Given the description of an element on the screen output the (x, y) to click on. 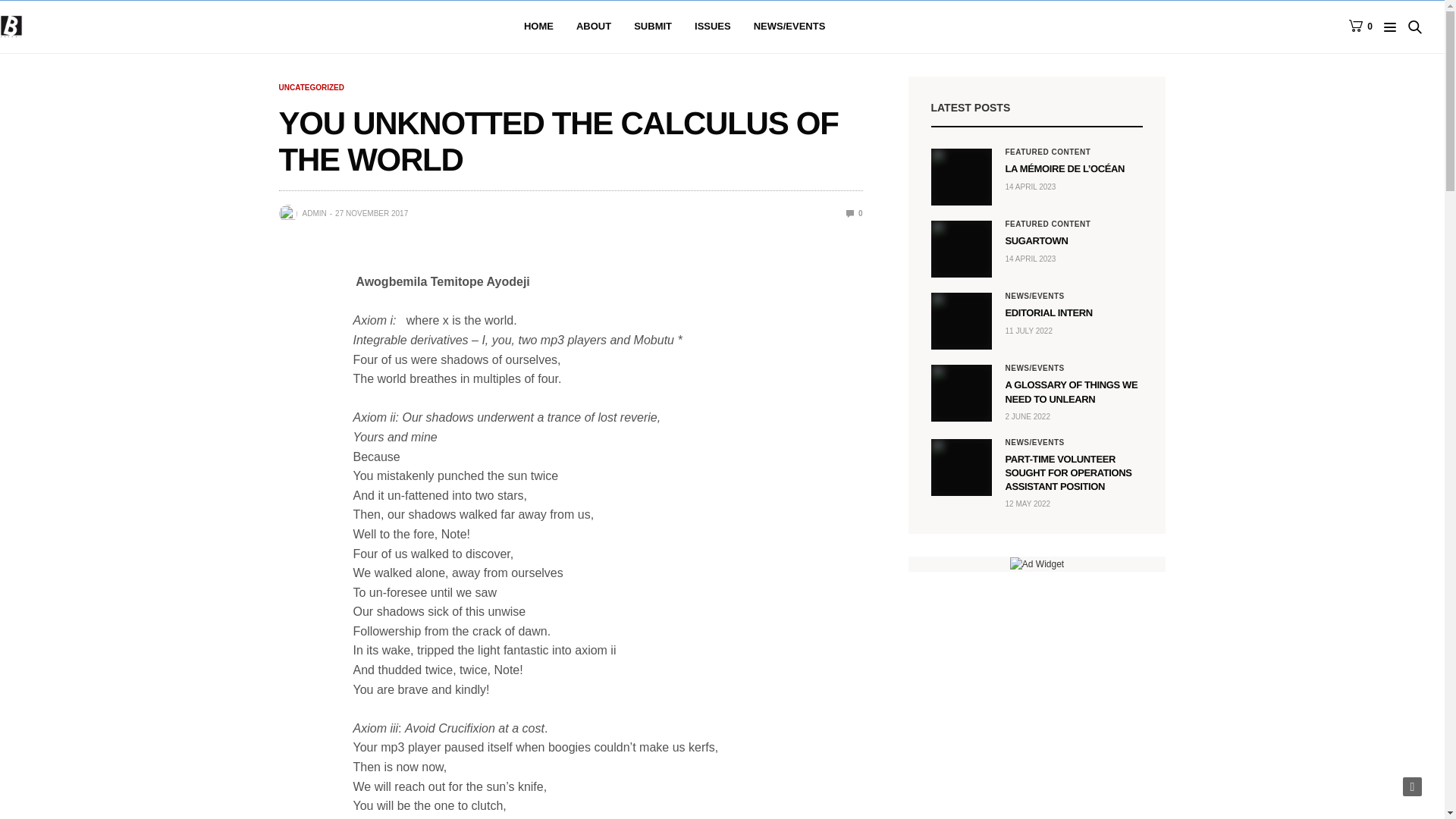
UNCATEGORIZED (311, 87)
ISSUES (712, 26)
Featured Content (1048, 152)
SUBMIT (652, 26)
FEATURED CONTENT (1048, 152)
ADMIN (313, 214)
Featured Content (1048, 224)
Search (1393, 73)
You Unknotted the Calculus of the World (853, 213)
Sugartown (961, 248)
0 (853, 213)
ABOUT (593, 26)
Posts by admin (313, 214)
Uncategorized (311, 87)
HOME (538, 26)
